Given the description of an element on the screen output the (x, y) to click on. 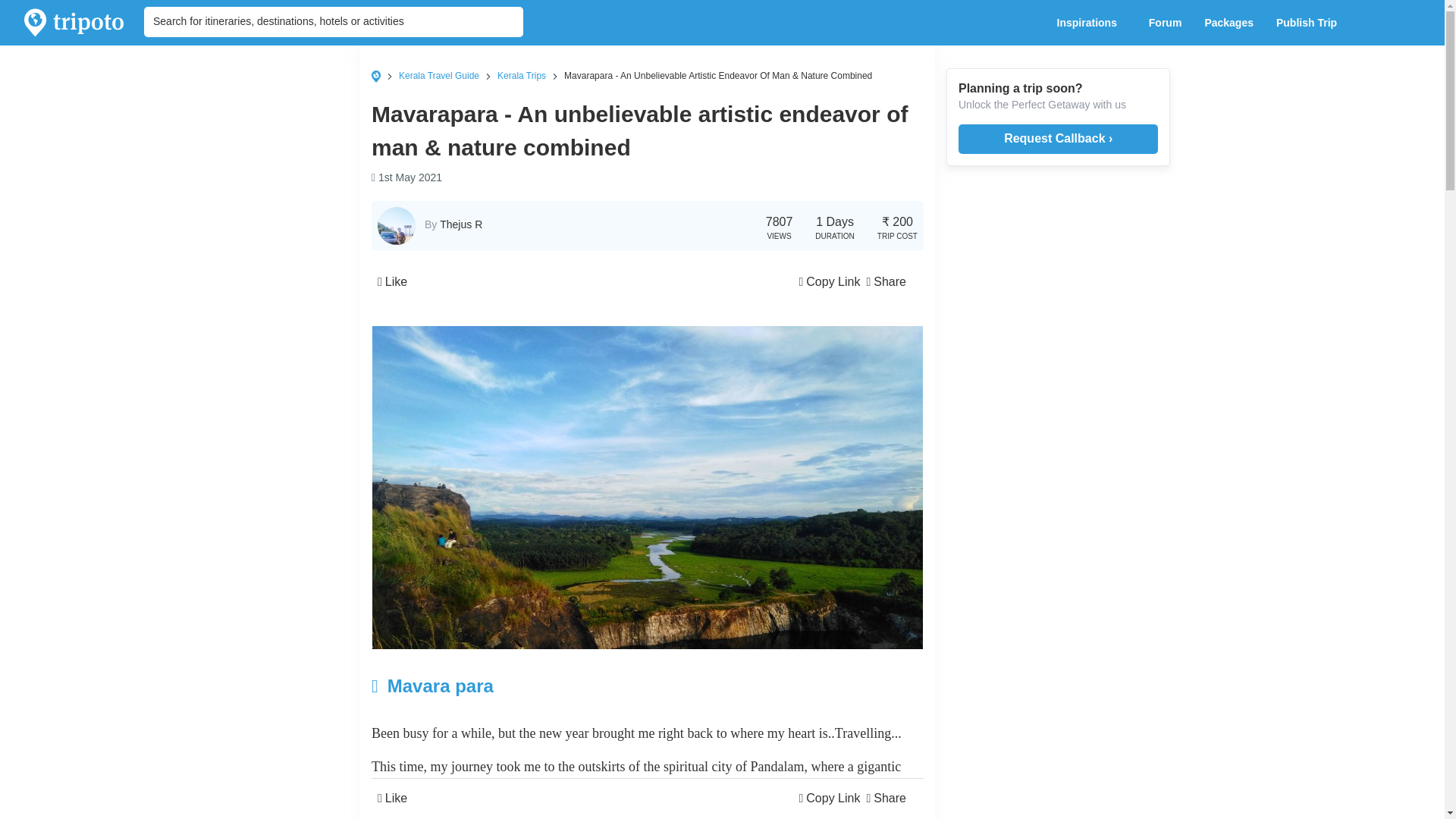
Inspirations (1091, 22)
Packages (1228, 22)
Kerala Travel Guide (438, 75)
Inspirations (1091, 22)
Publish Trip  (1310, 22)
Tripoto: India's Largest Community of Travellers (73, 22)
By Thejus R (453, 223)
Kerala Trips (521, 75)
Packages (1228, 22)
Forum (1165, 22)
Forum (1165, 22)
Publish Trip (1310, 22)
Mavara para (555, 686)
